Given the description of an element on the screen output the (x, y) to click on. 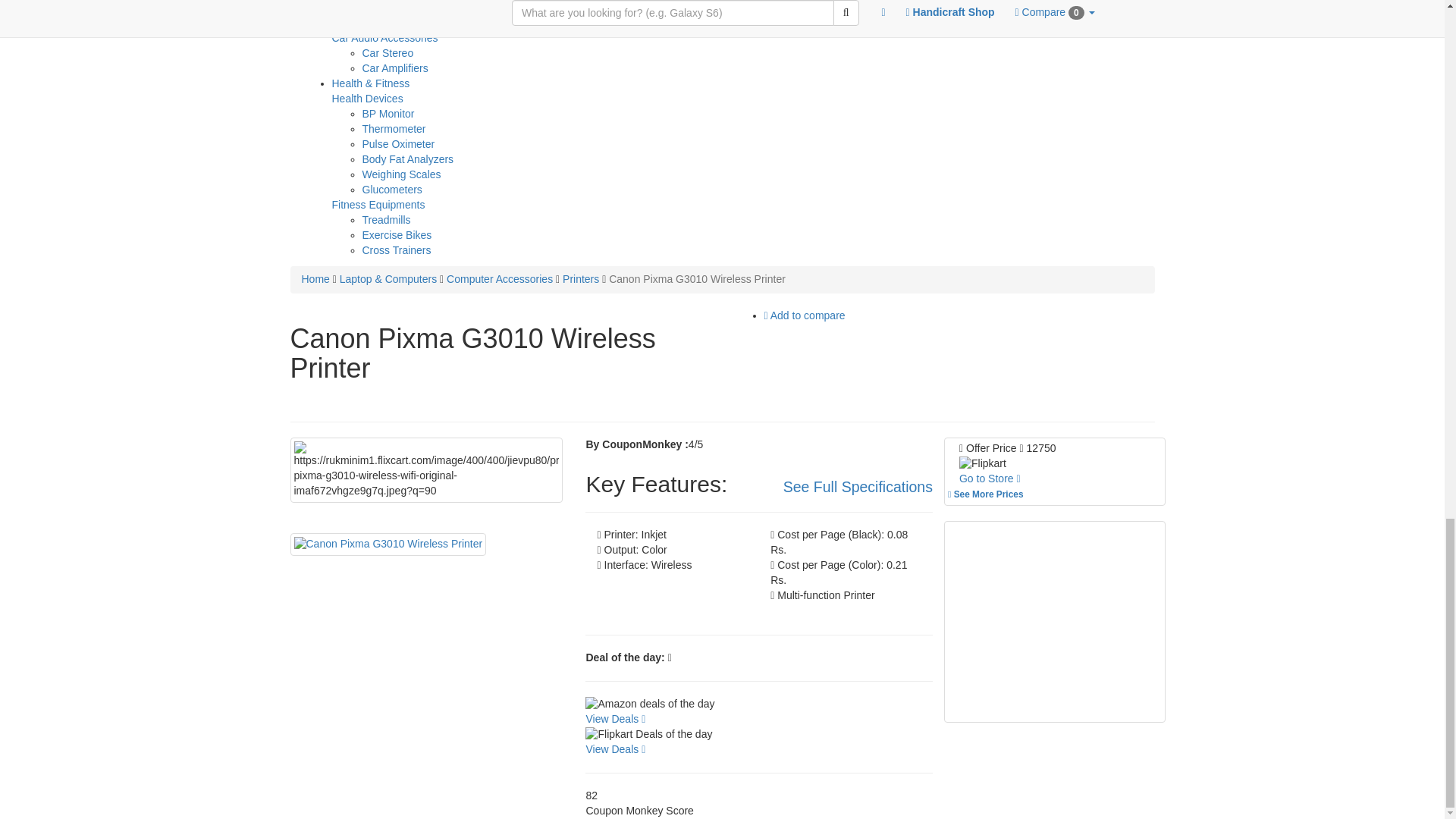
Printers (580, 278)
Computer Accessories (499, 278)
Product Rating (759, 444)
Add to compare (804, 315)
See Full Specifications (858, 486)
